Given the description of an element on the screen output the (x, y) to click on. 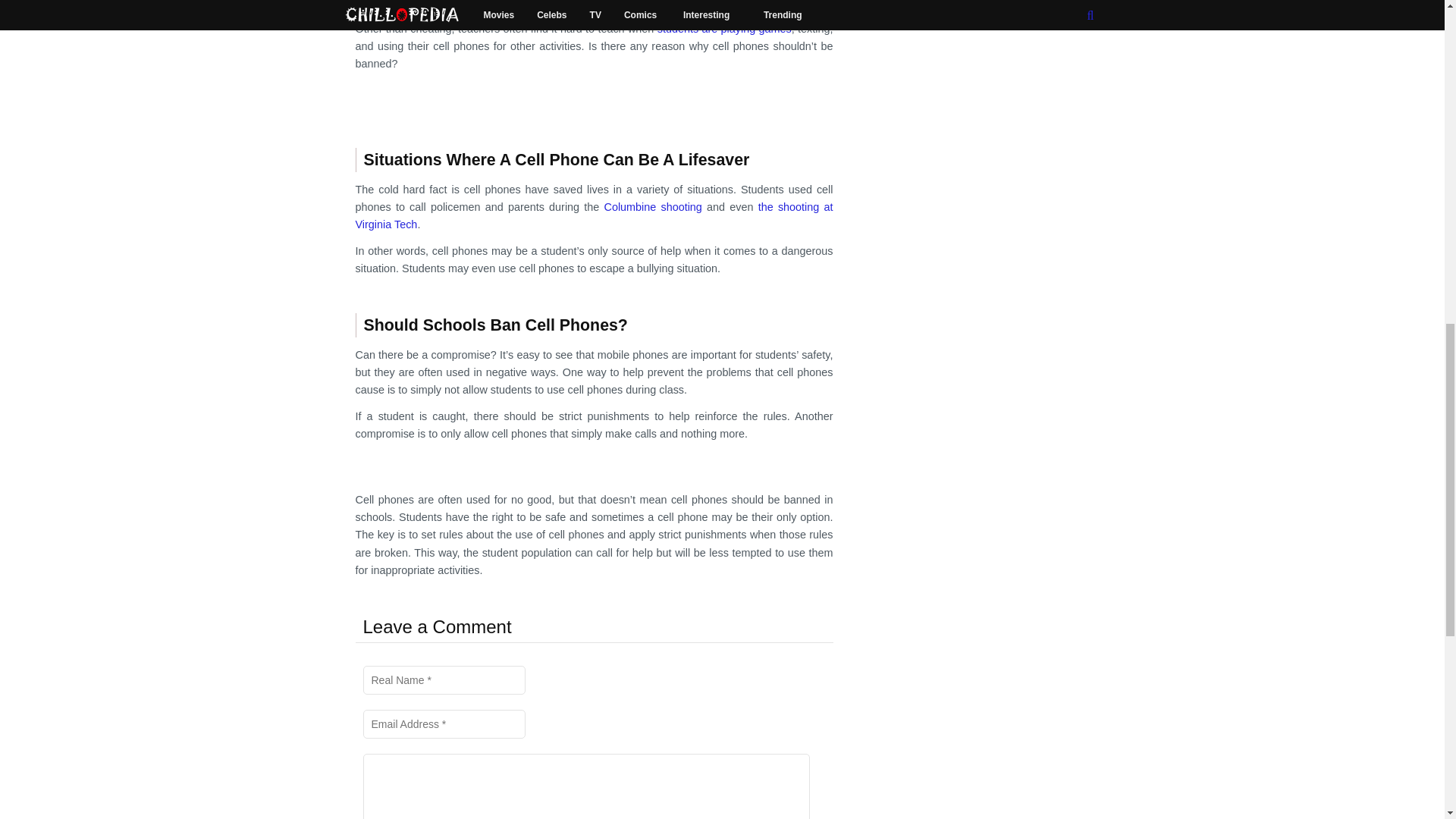
Columbine shooting (652, 206)
the shooting at Virginia Tech (593, 215)
students are playing games (725, 28)
